Given the description of an element on the screen output the (x, y) to click on. 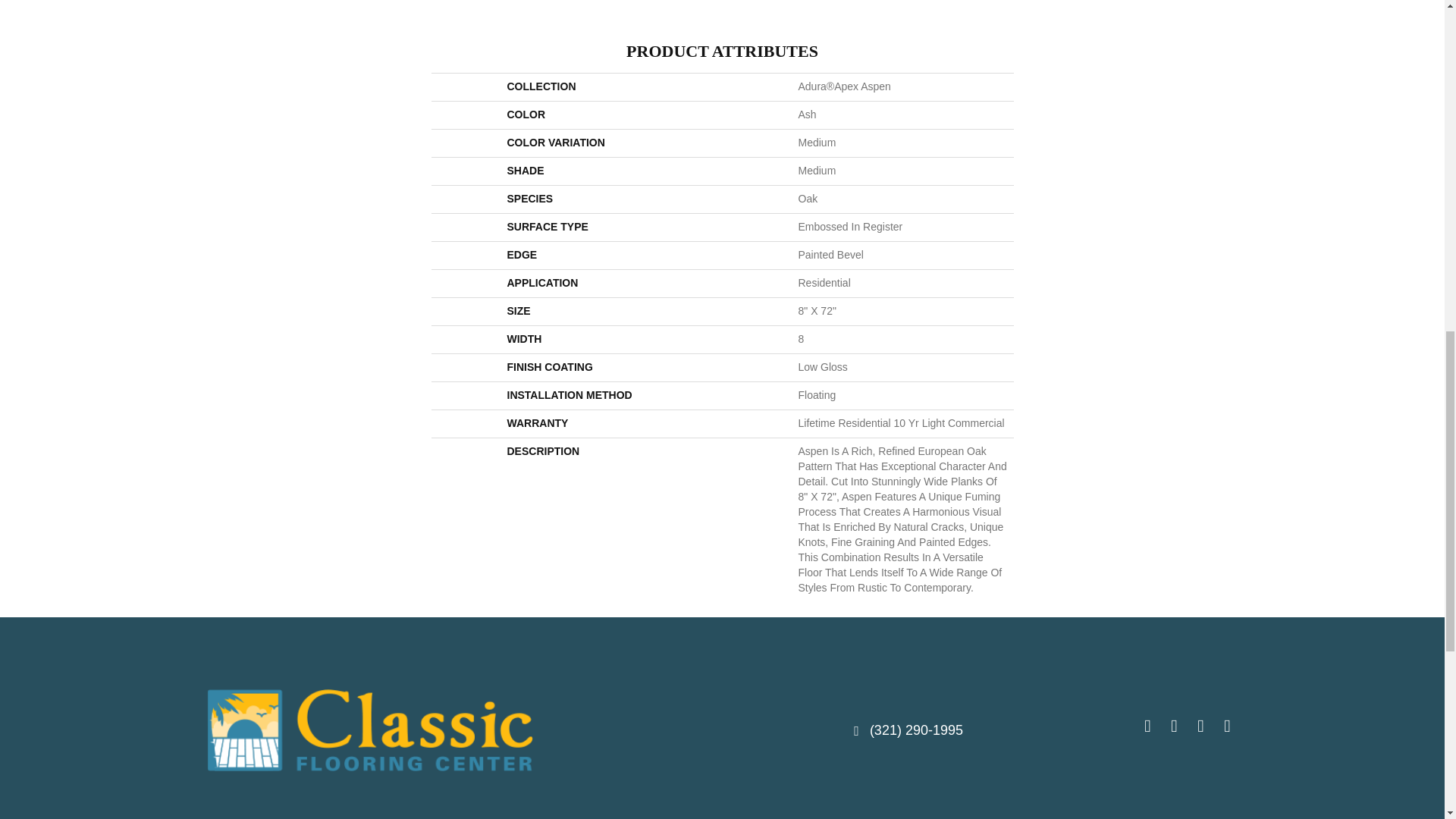
instagram (1173, 728)
pinterest (1200, 728)
ClassicFlooring-Logo-385x97 (369, 730)
facebook (1147, 728)
googleBusiness (1227, 728)
